Given the description of an element on the screen output the (x, y) to click on. 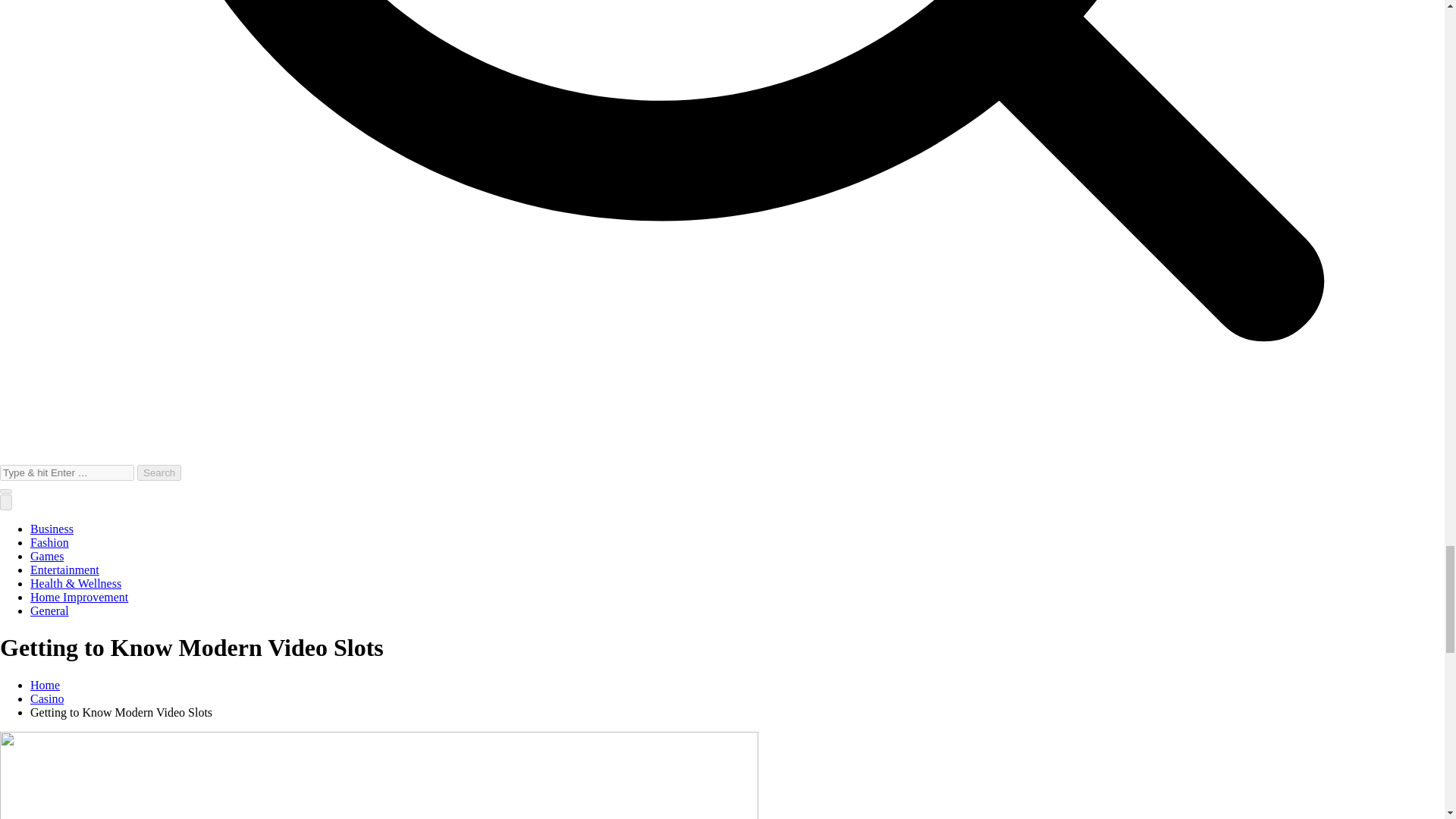
Games (47, 555)
Home (44, 684)
Business (52, 528)
Casino (47, 698)
Search (158, 472)
Search for: (66, 472)
Entertainment (64, 569)
Home Improvement (79, 596)
General (49, 610)
Search (158, 472)
